Given the description of an element on the screen output the (x, y) to click on. 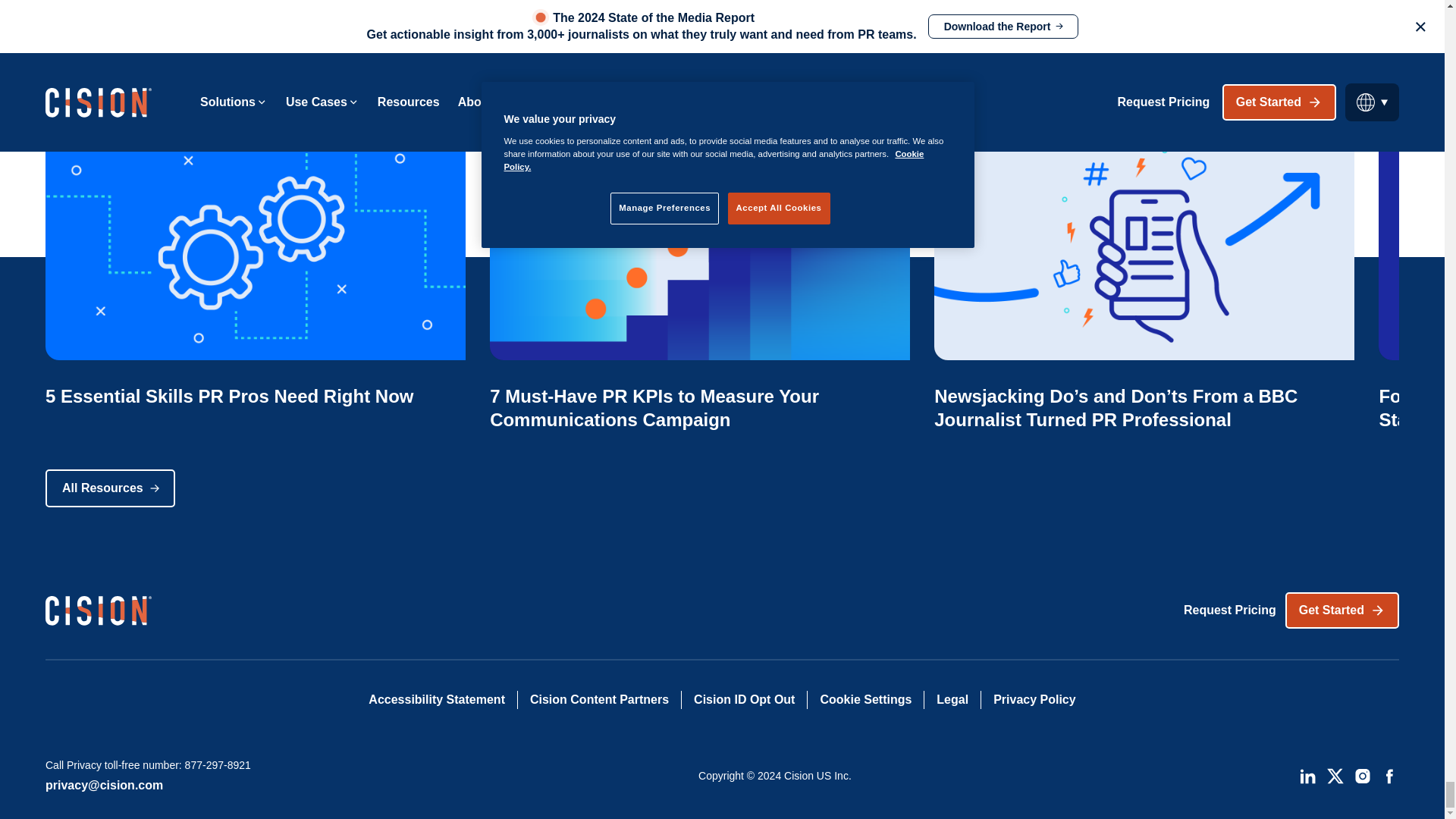
facebook (1389, 775)
instagram (1362, 775)
linkedin (1307, 775)
twitter (1334, 775)
